Given the description of an element on the screen output the (x, y) to click on. 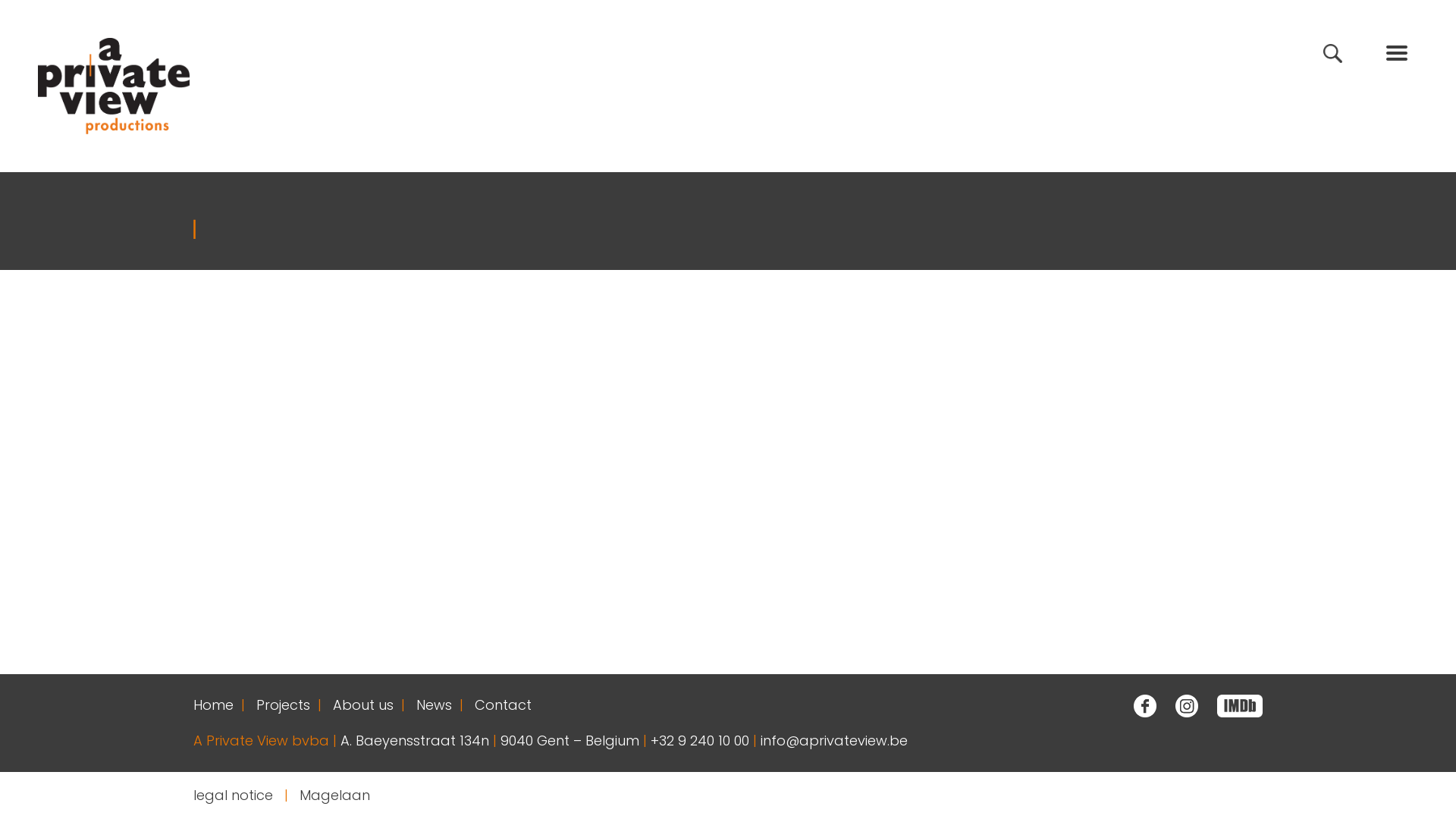
Home Element type: text (213, 704)
Contact Element type: text (502, 704)
info@aprivateview.be Element type: text (833, 740)
Projects Element type: text (283, 704)
Magelaan Element type: text (330, 794)
About us Element type: text (362, 704)
legal notice Element type: text (236, 794)
News Element type: text (433, 704)
